Given the description of an element on the screen output the (x, y) to click on. 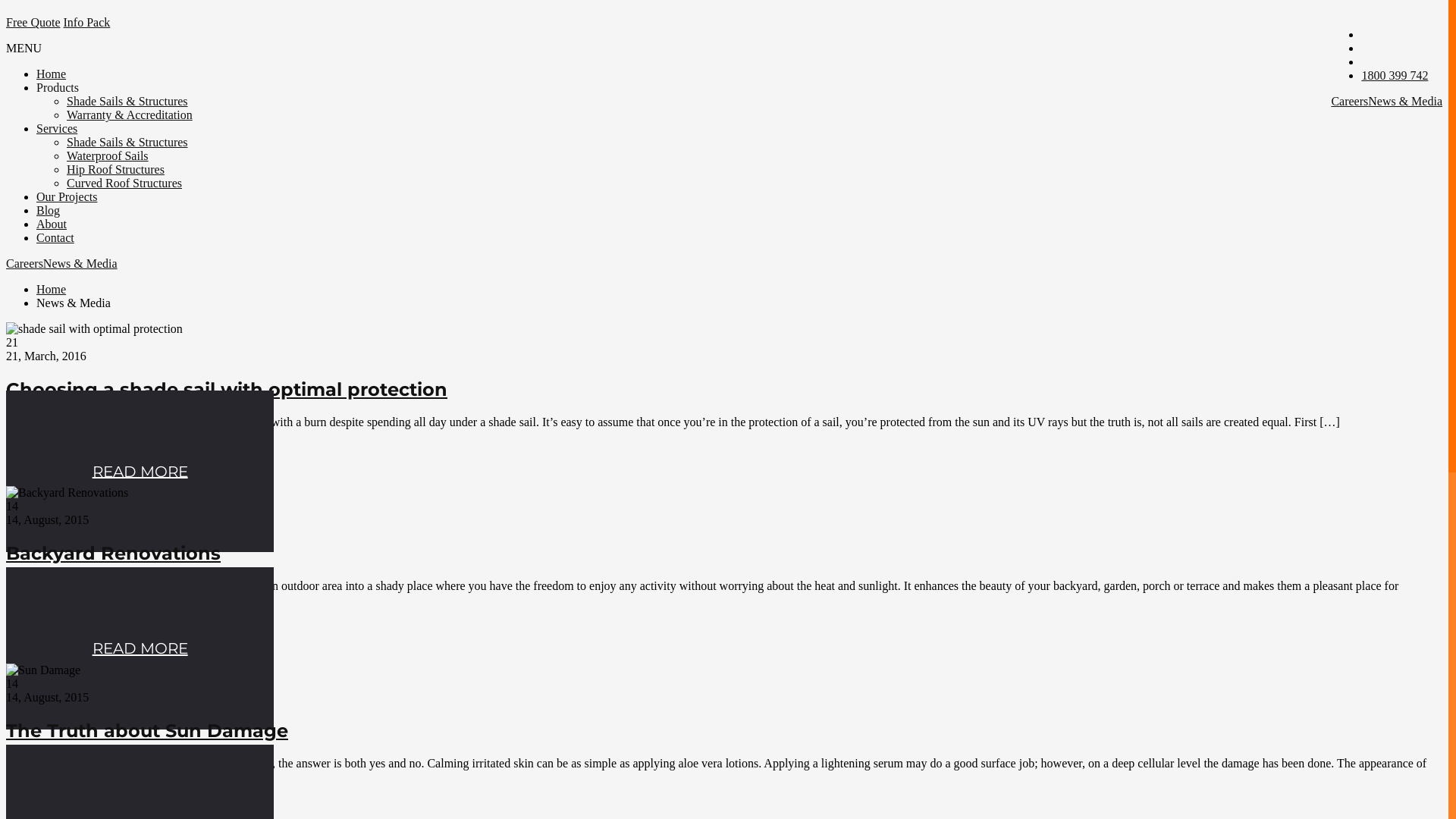
The Truth about Sun Damage Element type: text (147, 730)
Waterproof Sails Element type: text (107, 155)
Shade Sails & Structures Element type: text (127, 141)
1800 399 742 Element type: text (1394, 75)
News & Media Element type: text (1405, 100)
READ MORE Element type: text (139, 471)
Careers Element type: text (1349, 100)
Hip Roof Structures Element type: text (115, 169)
Backyard Renovations Element type: text (113, 553)
Free Quote Element type: text (33, 21)
News & Media Element type: text (80, 263)
Our Projects Element type: text (66, 196)
READ MORE Element type: text (139, 647)
Products Element type: text (57, 87)
Services Element type: text (56, 128)
Warranty & Accreditation Element type: text (129, 114)
Home Element type: text (50, 73)
Home Element type: text (50, 288)
Info Pack Element type: text (86, 21)
Choosing a shade sail with optimal protection Element type: text (226, 389)
Contact Element type: text (55, 237)
Curved Roof Structures Element type: text (124, 182)
Careers Element type: text (24, 263)
Shade Sails & Structures Element type: text (127, 100)
Blog Element type: text (47, 209)
About Element type: text (51, 223)
